Given the description of an element on the screen output the (x, y) to click on. 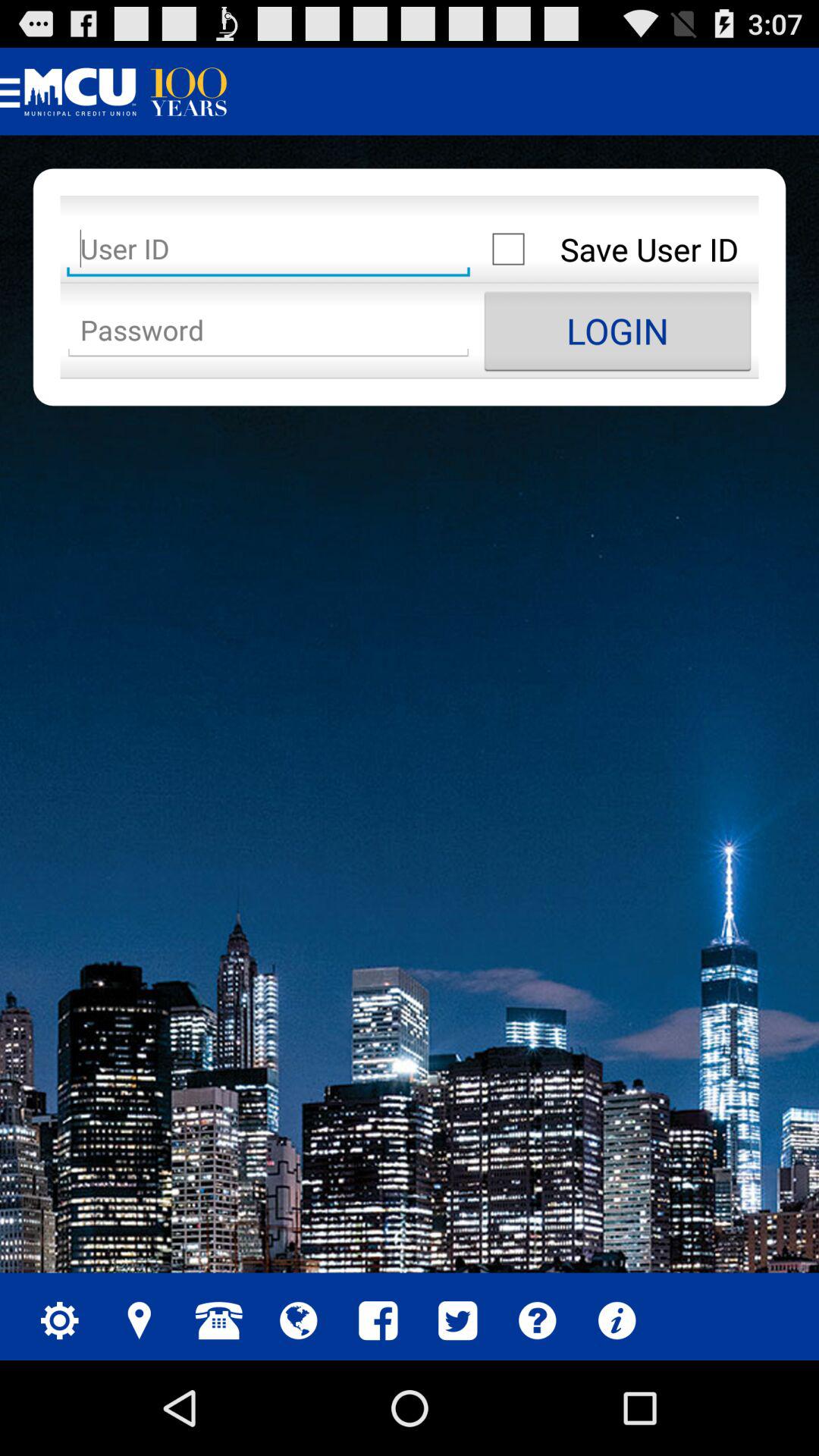
swipe until the save user id icon (617, 248)
